Given the description of an element on the screen output the (x, y) to click on. 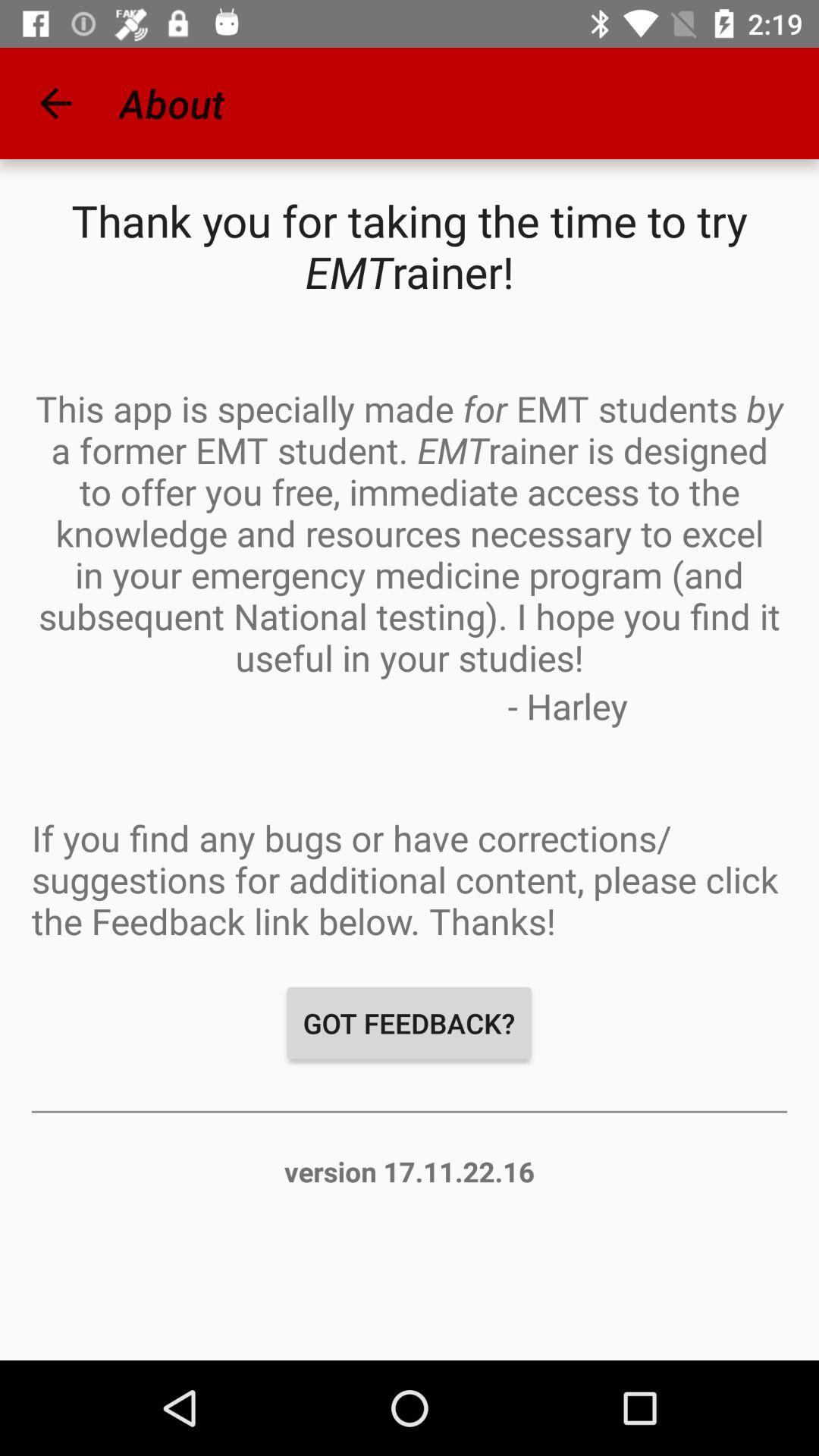
choose the icon above the thank you for (55, 103)
